Given the description of an element on the screen output the (x, y) to click on. 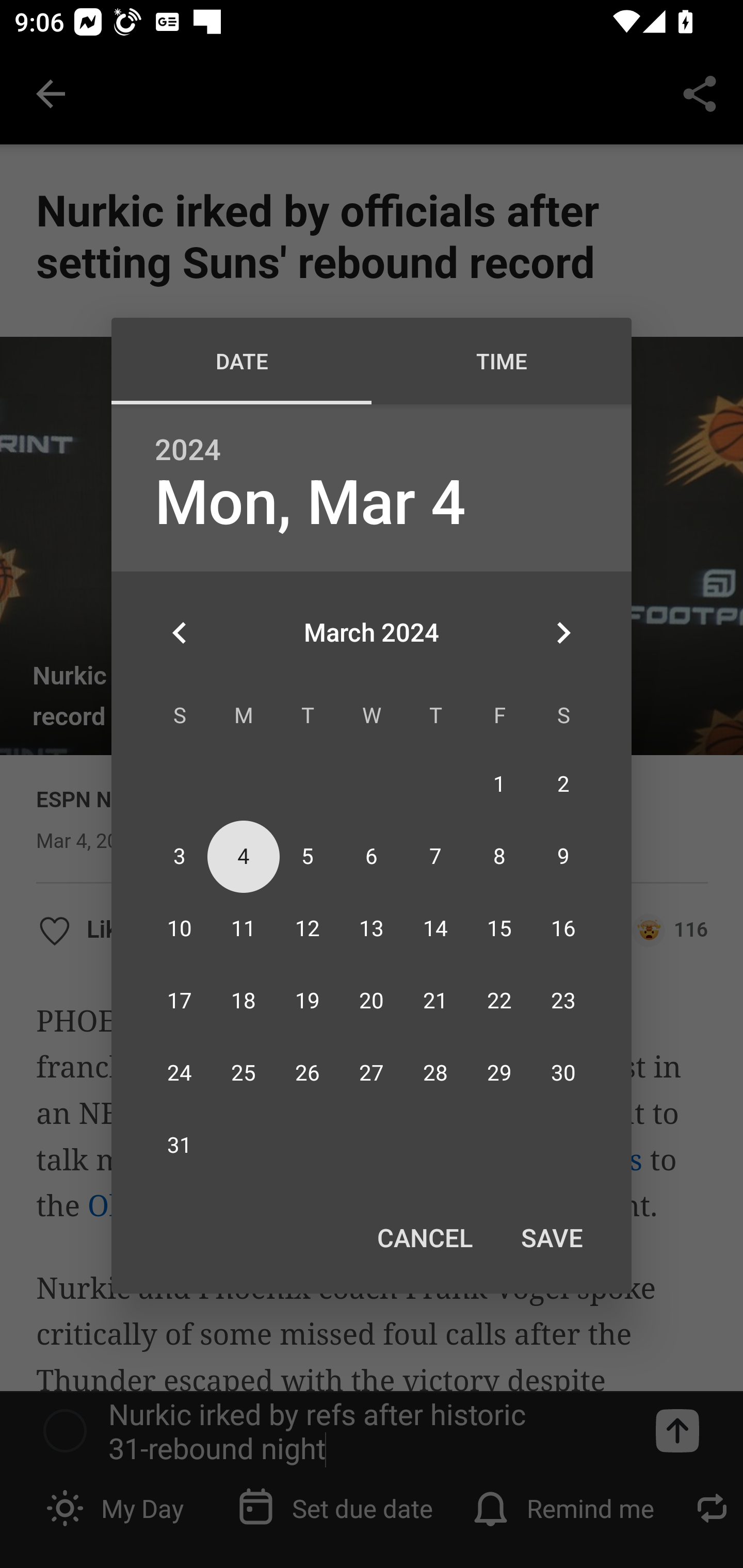
Date DATE (241, 361)
Time TIME (501, 361)
2024 (187, 449)
Mon, Mar 4 (309, 503)
Previous month (178, 632)
Next month (563, 632)
1 01 March 2024 (499, 783)
2 02 March 2024 (563, 783)
3 03 March 2024 (179, 856)
4 04 March 2024 (243, 856)
5 05 March 2024 (307, 856)
6 06 March 2024 (371, 856)
7 07 March 2024 (435, 856)
8 08 March 2024 (499, 856)
9 09 March 2024 (563, 856)
10 10 March 2024 (179, 928)
11 11 March 2024 (243, 928)
12 12 March 2024 (307, 928)
13 13 March 2024 (371, 928)
14 14 March 2024 (435, 928)
15 15 March 2024 (499, 928)
16 16 March 2024 (563, 928)
17 17 March 2024 (179, 1001)
18 18 March 2024 (243, 1001)
19 19 March 2024 (307, 1001)
20 20 March 2024 (371, 1001)
21 21 March 2024 (435, 1001)
22 22 March 2024 (499, 1001)
23 23 March 2024 (563, 1001)
24 24 March 2024 (179, 1074)
25 25 March 2024 (243, 1074)
26 26 March 2024 (307, 1074)
27 27 March 2024 (371, 1074)
28 28 March 2024 (435, 1074)
29 29 March 2024 (499, 1074)
30 30 March 2024 (563, 1074)
31 31 March 2024 (179, 1146)
CANCEL (424, 1236)
SAVE (552, 1236)
